Given the description of an element on the screen output the (x, y) to click on. 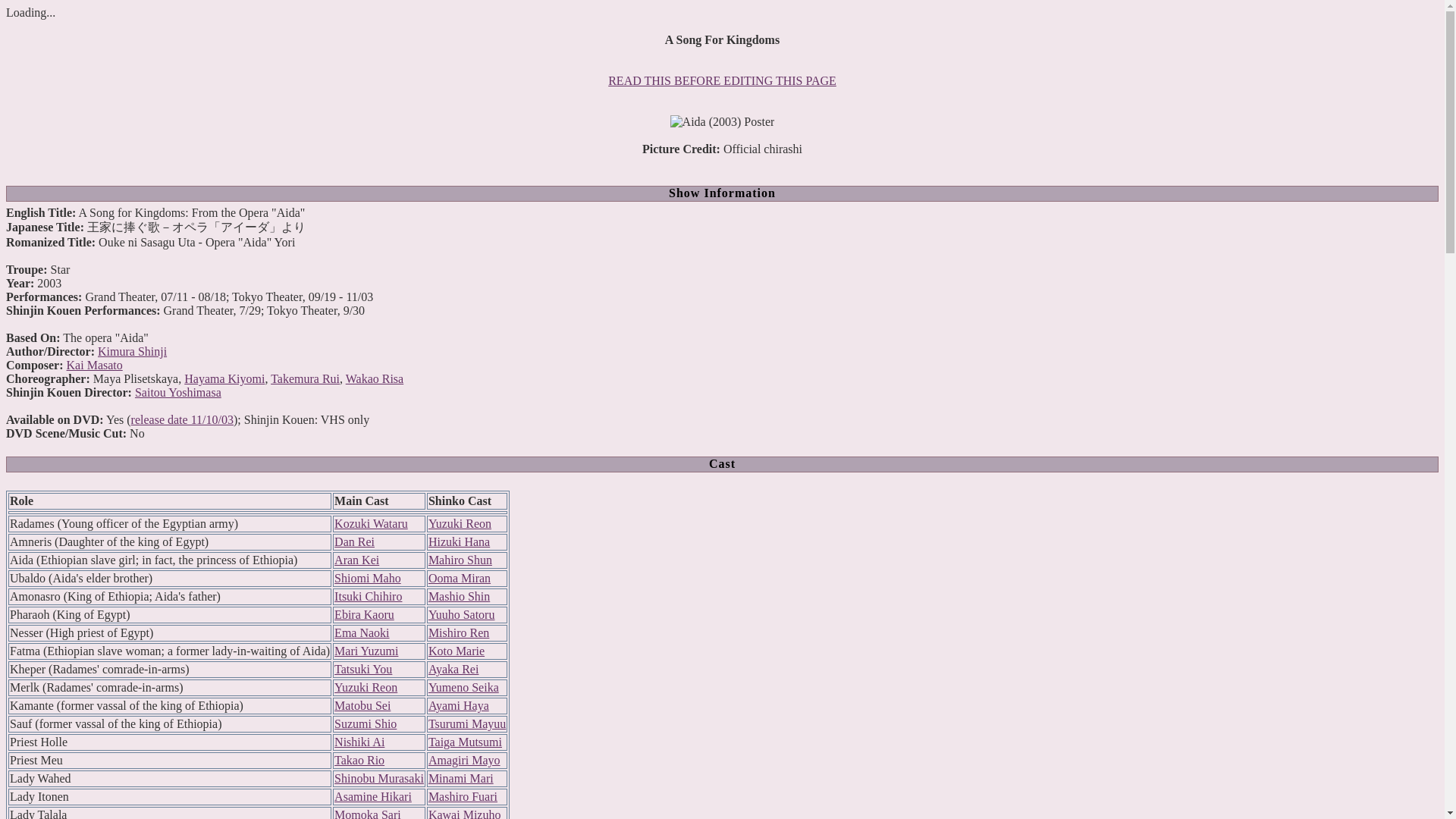
Ema Naoki (361, 632)
Yuzuki Reon (365, 686)
Shinobu Murasaki (378, 778)
Kai Masato (94, 364)
Yumeno Seika (463, 686)
Itsuki Chihiro (367, 595)
Aran Kei (356, 559)
Yuuho Satoru (461, 614)
Ebira Kaoru (364, 614)
Dan Rei (354, 541)
Tsurumi Mayuu (466, 723)
Nishiki Ai (359, 741)
Wakao Risa (374, 378)
Yuzuki Reon (460, 522)
Mari Yuzumi (365, 650)
